Given the description of an element on the screen output the (x, y) to click on. 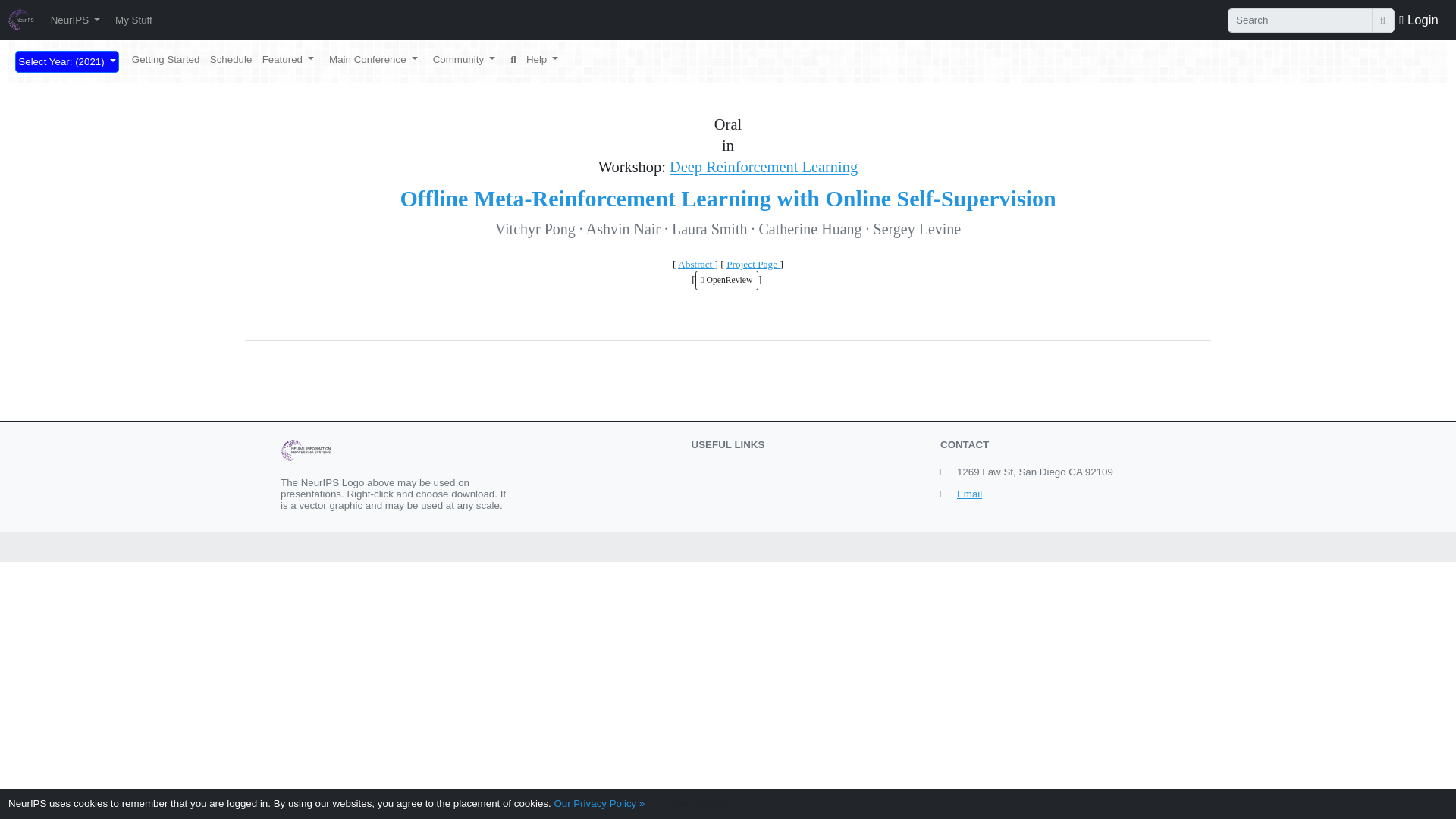
NeurIPS (74, 20)
OpenReview (726, 280)
My Stuff (133, 20)
Login (1418, 19)
